Given the description of an element on the screen output the (x, y) to click on. 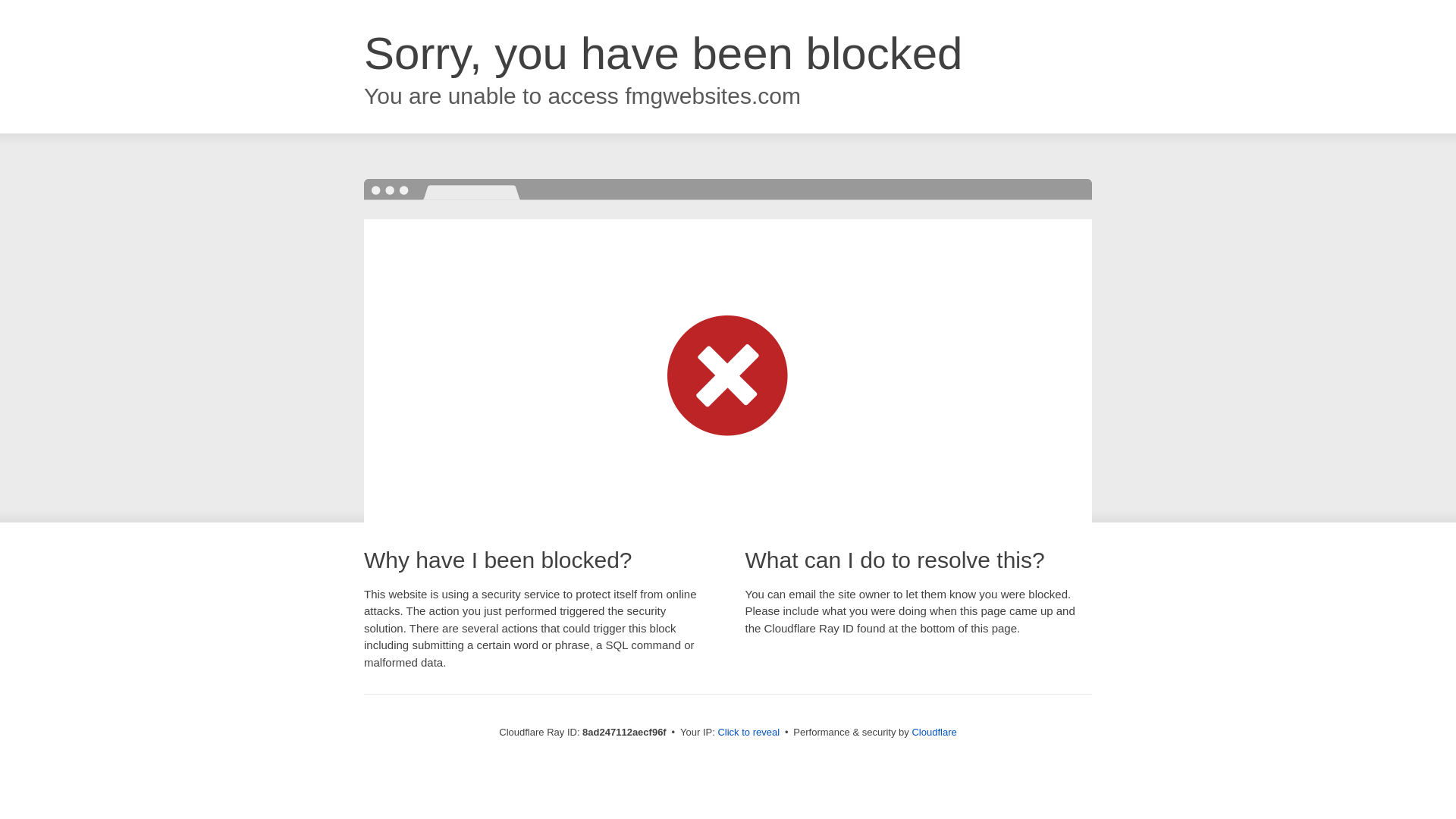
Cloudflare (933, 731)
Click to reveal (747, 732)
